Given the description of an element on the screen output the (x, y) to click on. 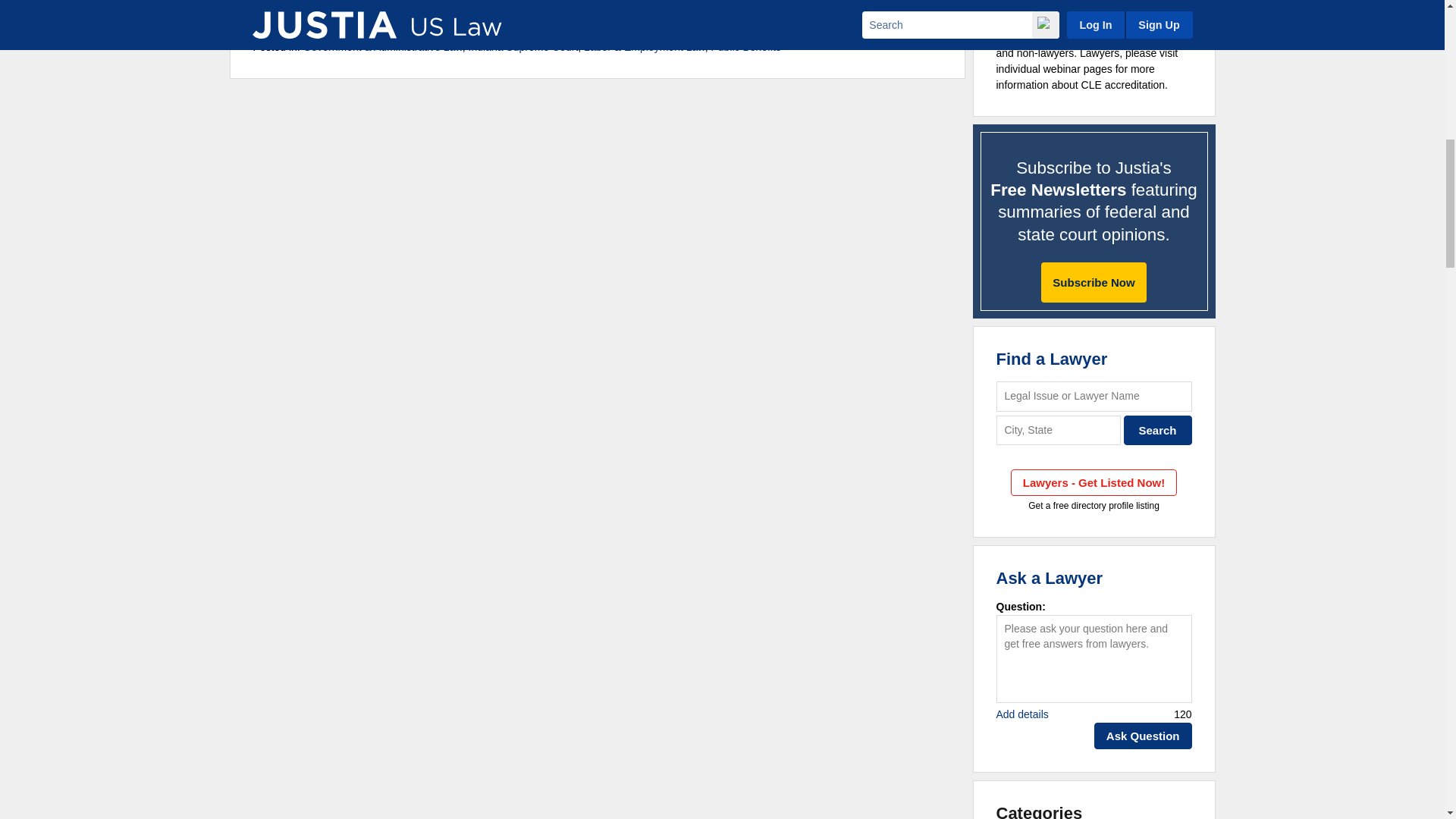
Search (1158, 430)
Legal Issue or Lawyer Name (1093, 396)
View all posts in Public Benefits (745, 46)
Search (1158, 430)
City, State (1058, 430)
View all posts in Indiana Supreme Court (523, 46)
